Given the description of an element on the screen output the (x, y) to click on. 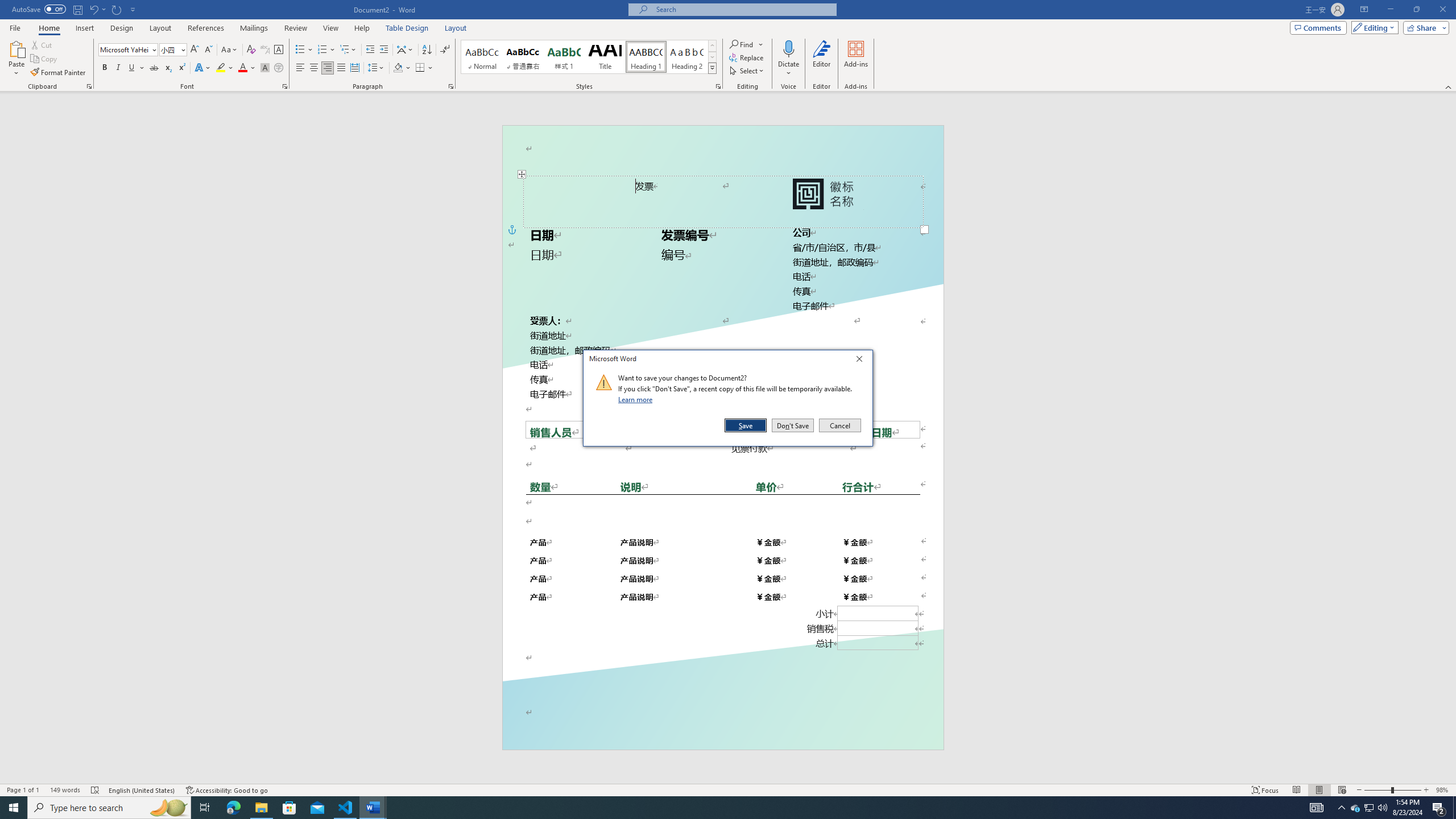
Learn more (636, 399)
